Given the description of an element on the screen output the (x, y) to click on. 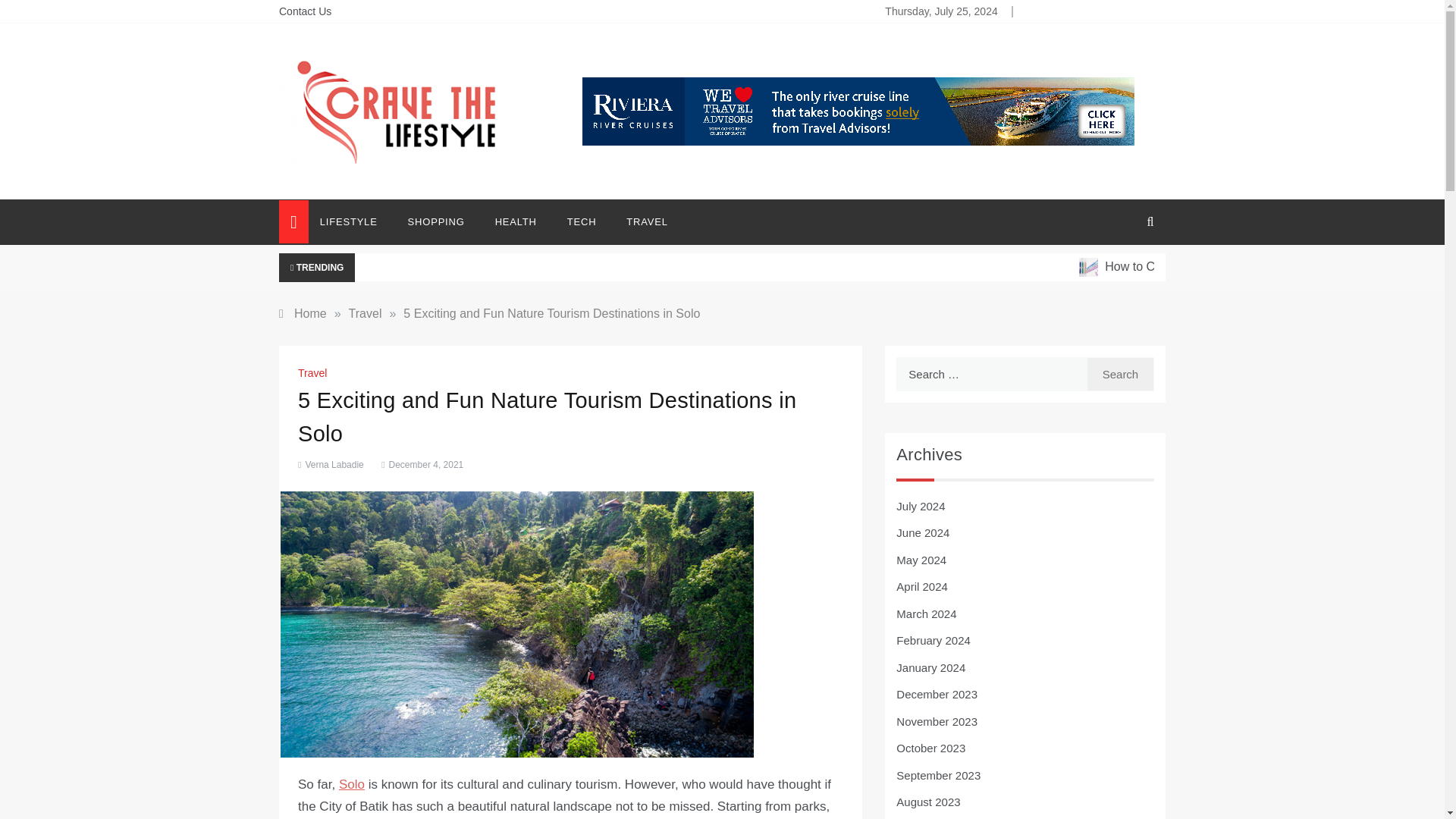
TECH (581, 221)
TRAVEL (638, 221)
Search (1120, 374)
Crave The Lifestyle (375, 180)
SHOPPING (436, 221)
HEALTH (515, 221)
LIFESTYLE (356, 221)
Travel (365, 313)
Home (302, 313)
Solo (352, 784)
Verna Labadie (333, 464)
Search (1120, 374)
December 4, 2021 (420, 464)
Travel (314, 372)
Contact Us (305, 10)
